Given the description of an element on the screen output the (x, y) to click on. 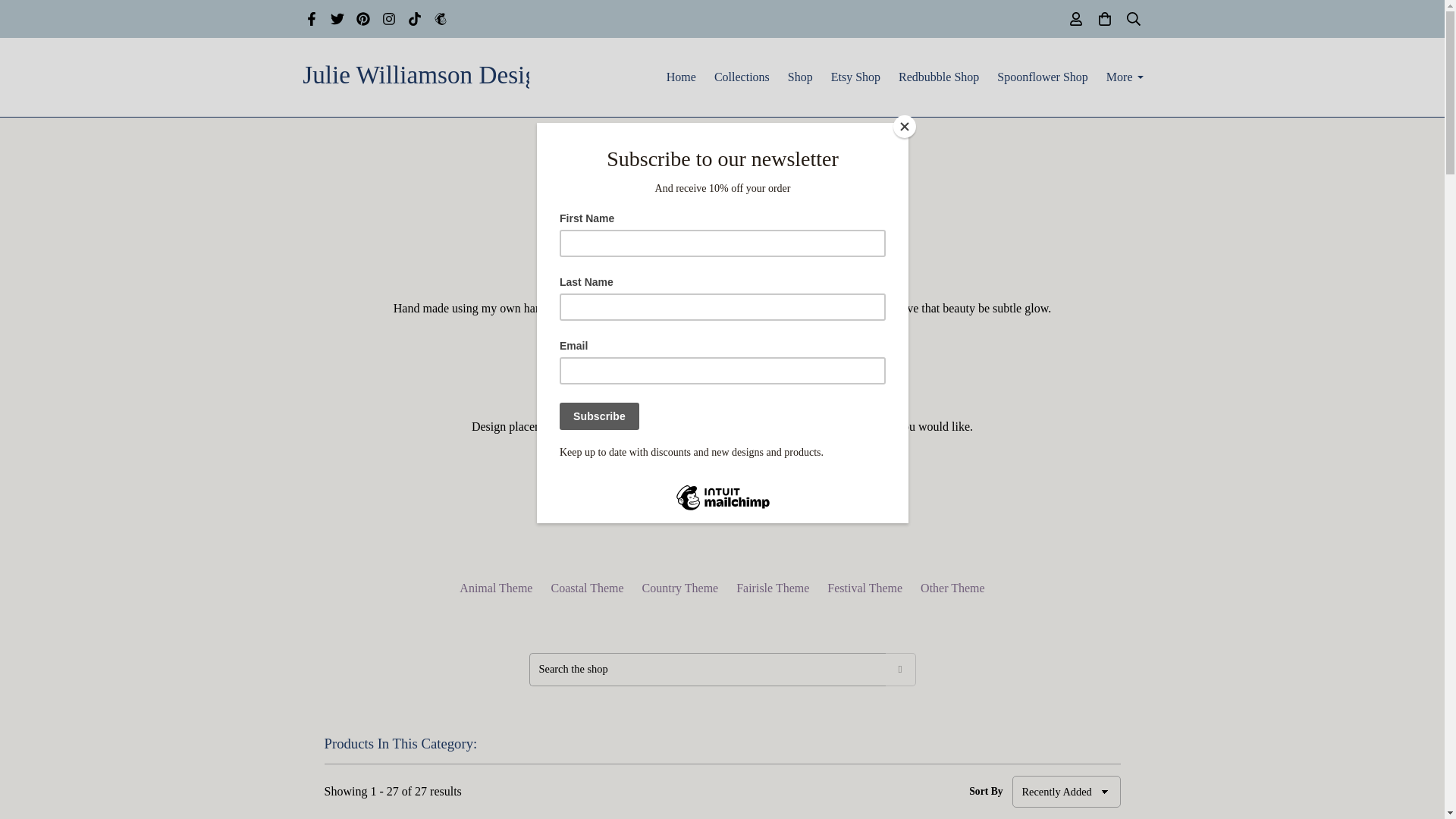
Home (681, 77)
Festival Theme (864, 587)
More (1125, 77)
Spoonflower Shop (1042, 77)
Fairisle Theme (772, 587)
Etsy Shop (855, 77)
Shop (691, 240)
Coastal Theme (586, 587)
 Newsletter signup (439, 20)
facebook (311, 20)
Search (900, 668)
Julie Williamson Designs (415, 75)
Other Theme (952, 587)
Julie Williamson Designs (415, 77)
Redbubble Shop (938, 77)
